Given the description of an element on the screen output the (x, y) to click on. 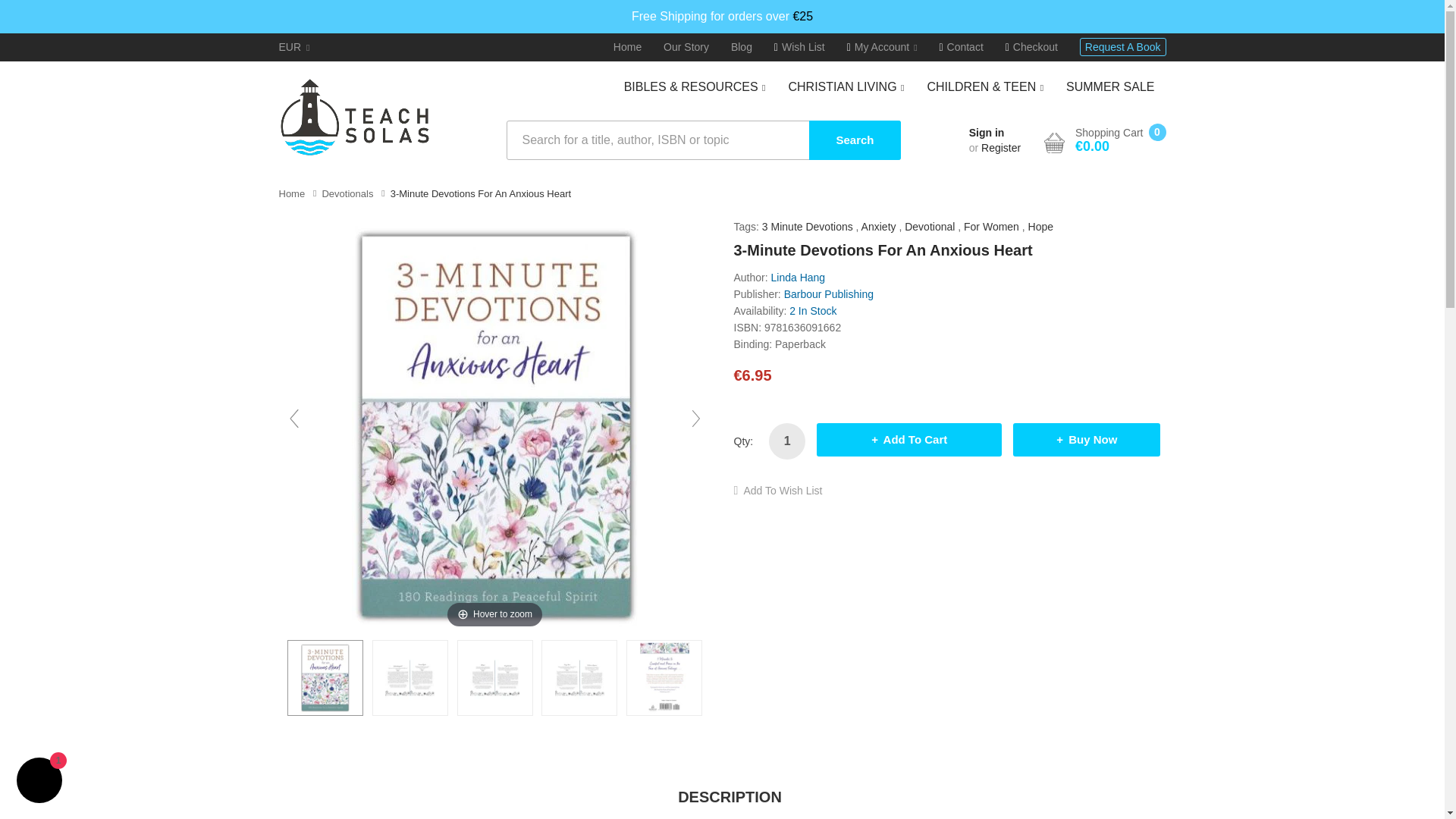
EUR (294, 47)
Checkout (1032, 47)
Contact (960, 47)
3-Minute Devotions for an Anxious Heart (410, 677)
3-Minute Devotions for an Anxious Heart (579, 677)
Devotionals (346, 193)
3-Minute Devotions for an Anxious Heart (494, 677)
My Account (882, 47)
1 (786, 441)
Back to the frontpage (292, 193)
3-Minute Devotions for an Anxious Heart (663, 677)
Wish List (799, 47)
Request A Book (1123, 47)
Barbour Publishing (828, 294)
Home (627, 47)
